Given the description of an element on the screen output the (x, y) to click on. 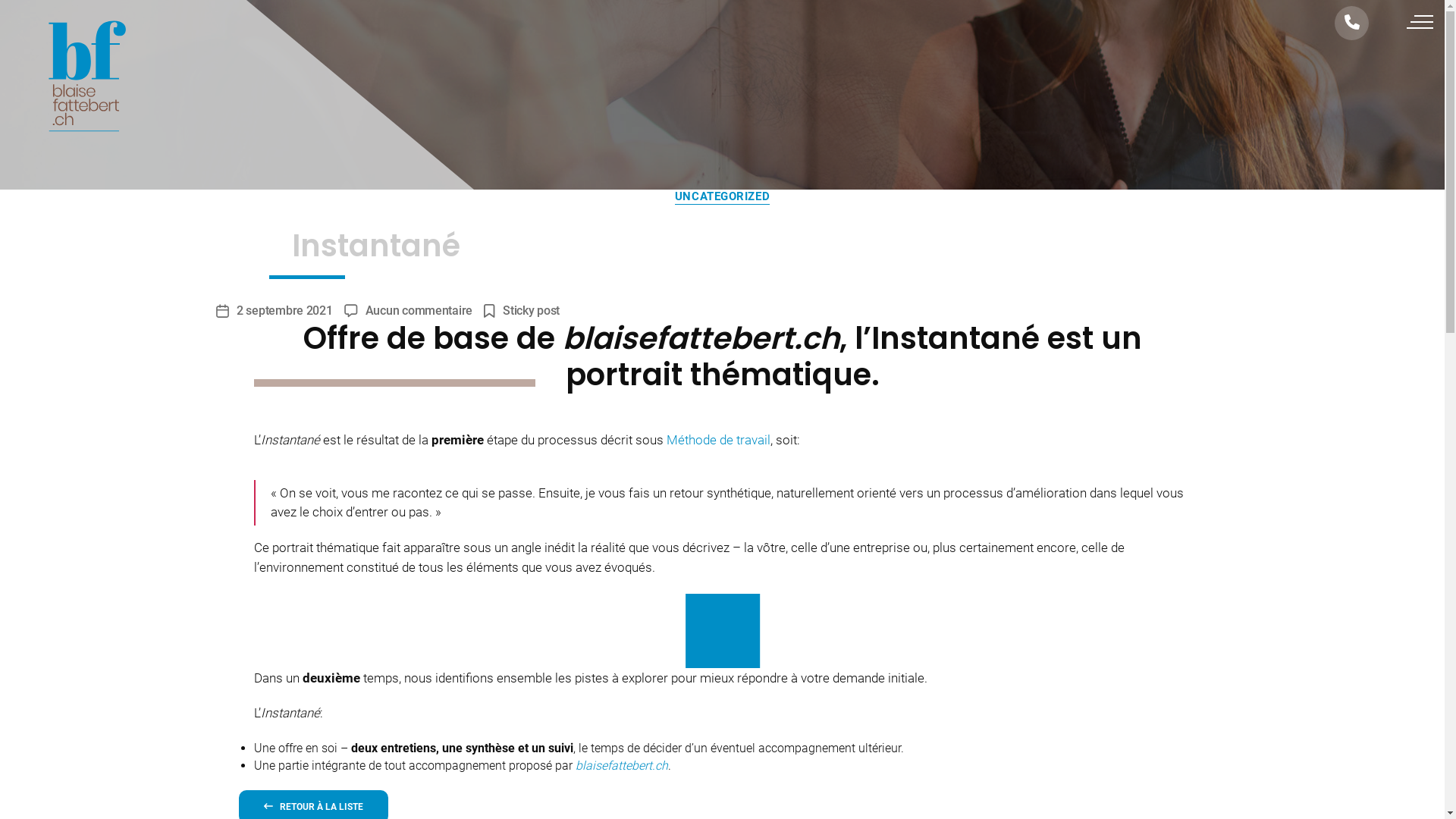
blaisefattebert.ch Element type: text (621, 765)
UNCATEGORIZED Element type: text (721, 196)
2 septembre 2021 Element type: text (284, 310)
